Given the description of an element on the screen output the (x, y) to click on. 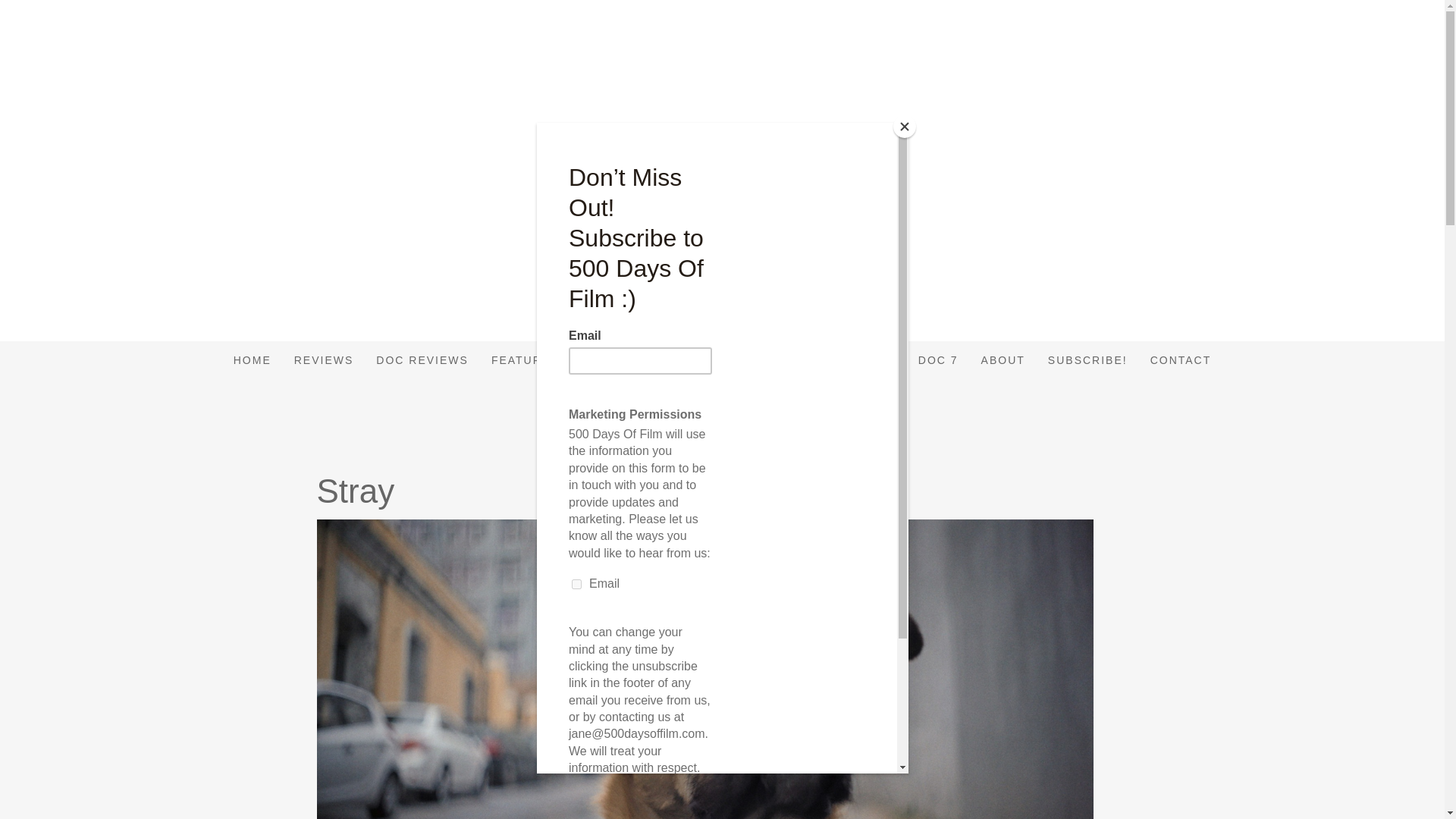
REVIEWS (323, 360)
ABOUT (1002, 360)
HOME (252, 360)
DOC INTERVIEWS (838, 360)
SUBSCRIBE! (1087, 360)
CONTACT (1180, 360)
DOC A-Z (732, 360)
FEATURES (525, 360)
DOC REVIEWS (422, 360)
DOC 7 (938, 360)
